Given the description of an element on the screen output the (x, y) to click on. 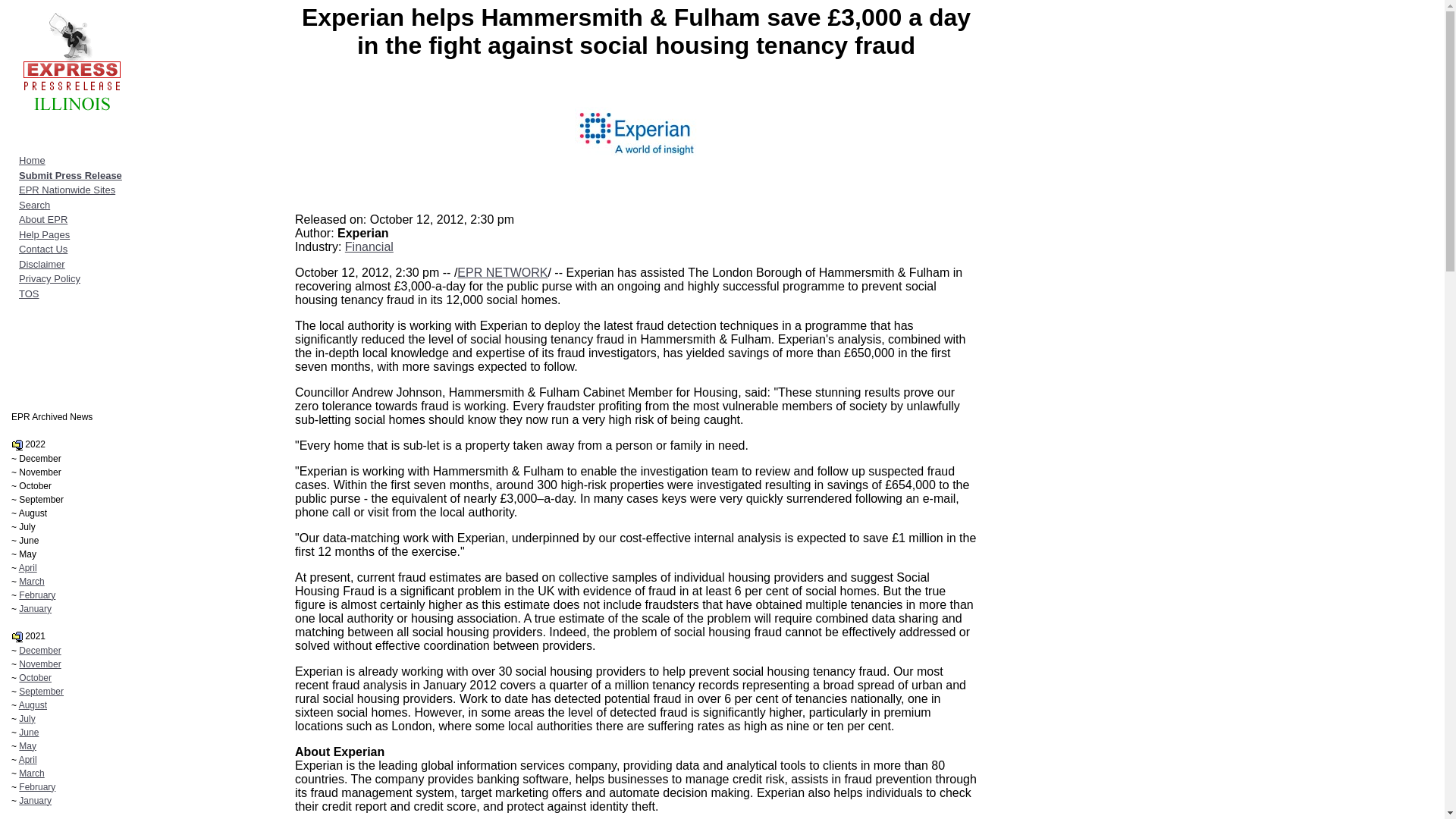
Privacy Policy (49, 278)
April (27, 759)
March (30, 581)
Home (31, 160)
TOS (28, 293)
November (39, 664)
August (32, 705)
About EPR (42, 219)
Help Pages (43, 234)
February (36, 787)
Submit Press Release (70, 174)
March (30, 773)
May (27, 746)
June (28, 732)
Search (33, 204)
